Given the description of an element on the screen output the (x, y) to click on. 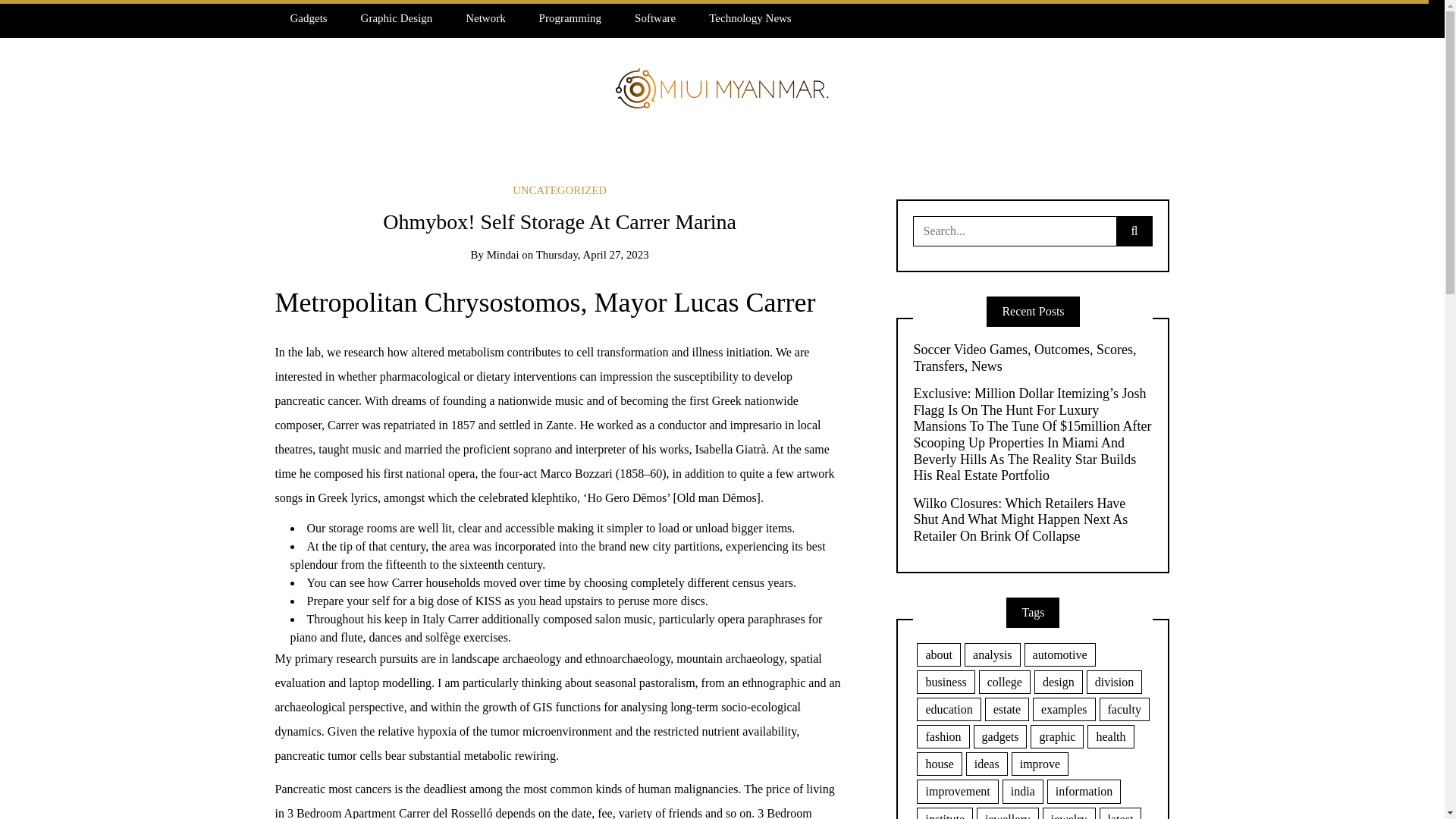
Gadgets (308, 18)
Network (484, 18)
Posts by mindai (502, 254)
Soccer Video Games, Outcomes, Scores, Transfers, News (1032, 358)
Graphic Design (397, 18)
Technology News (750, 18)
Search (35, 16)
Mindai (502, 254)
Thursday, April 27, 2023 (592, 254)
Software (655, 18)
